Given the description of an element on the screen output the (x, y) to click on. 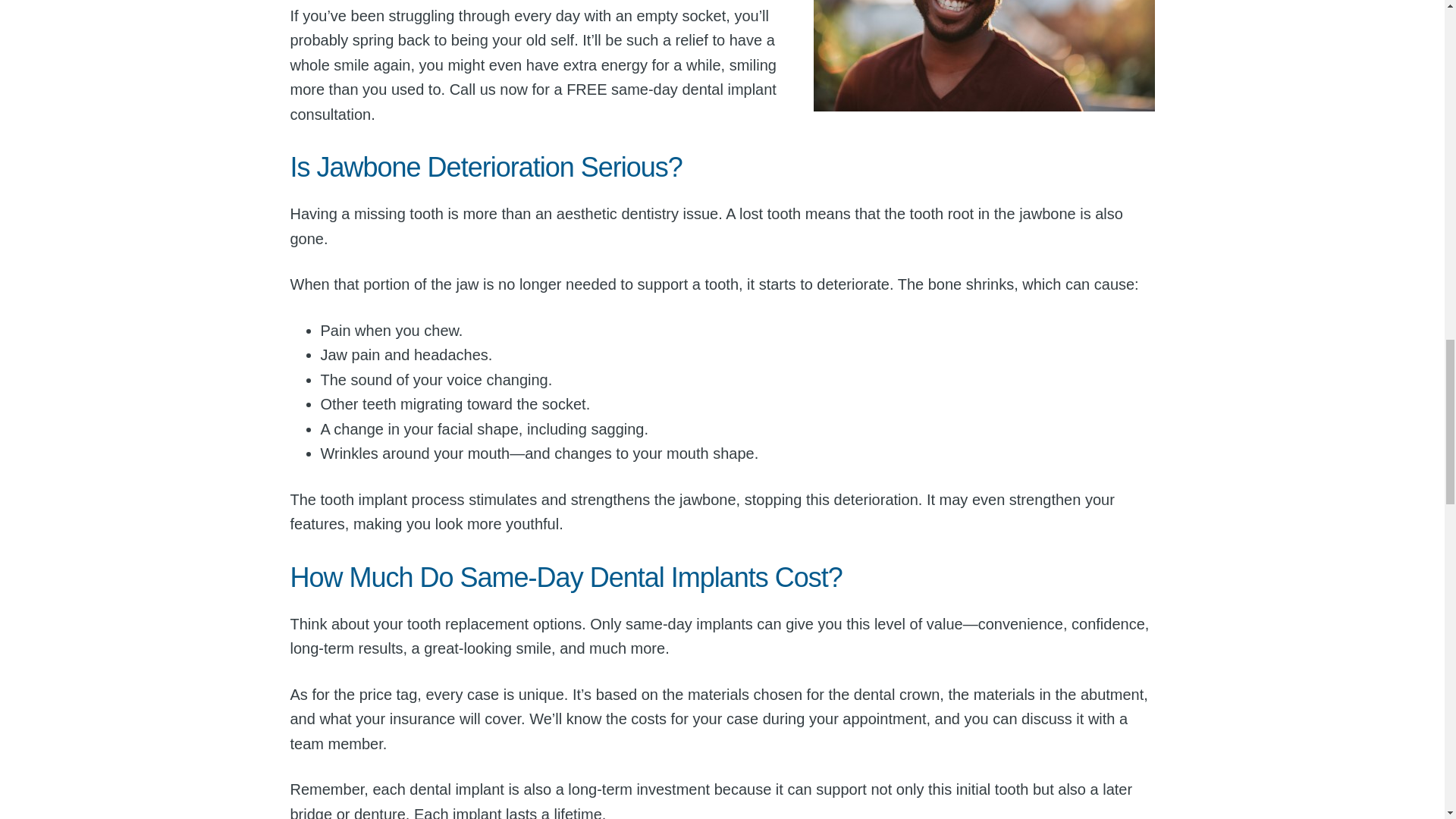
Same-Day Tooth Replacement 2 (983, 55)
